Given the description of an element on the screen output the (x, y) to click on. 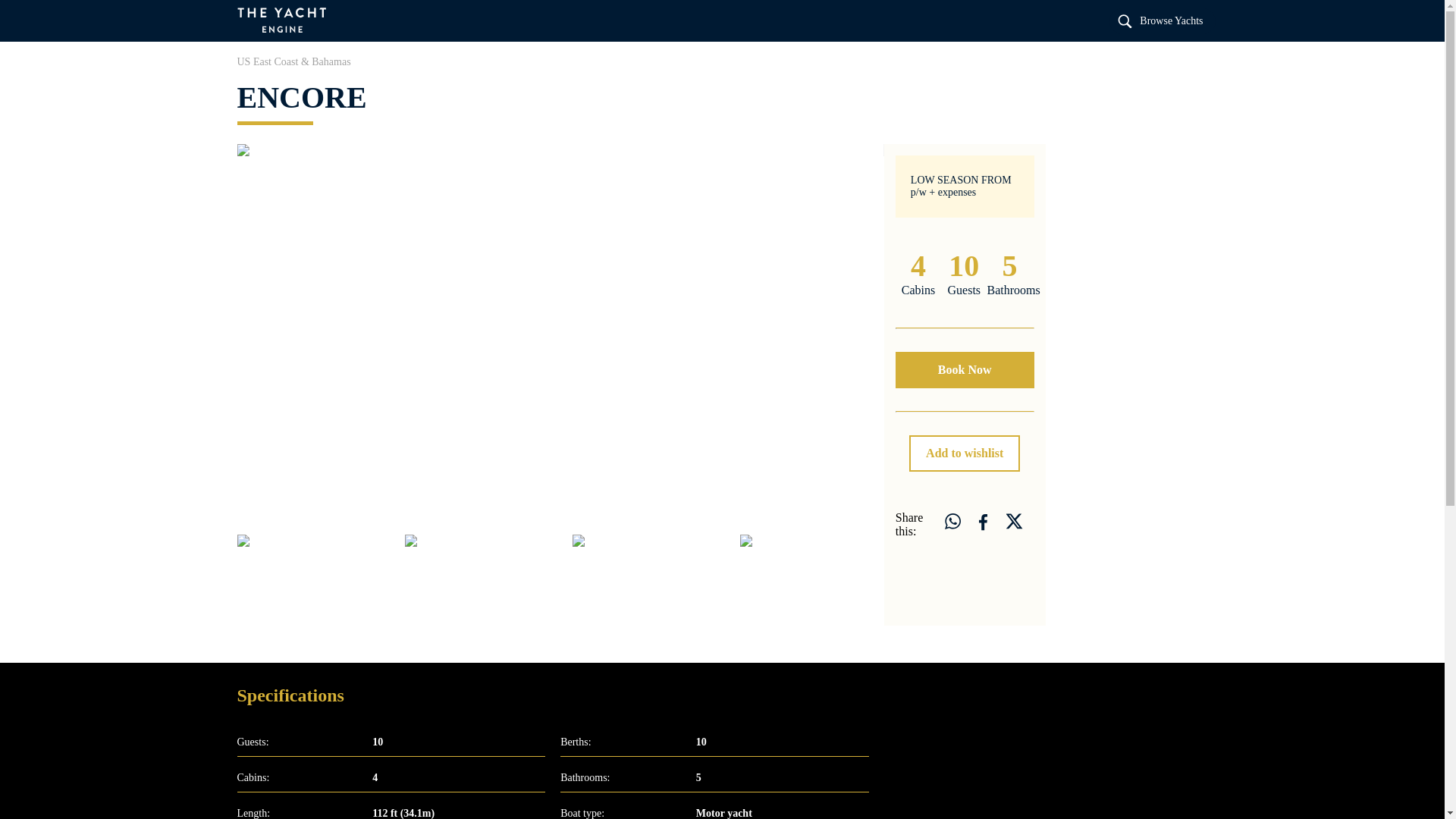
Browse Yachts (1161, 20)
 The Yacht Engine (313, 579)
Book Now (964, 370)
Browse Yachts (1161, 20)
The Yacht Engine (282, 20)
Add to wishlist (964, 452)
